Given the description of an element on the screen output the (x, y) to click on. 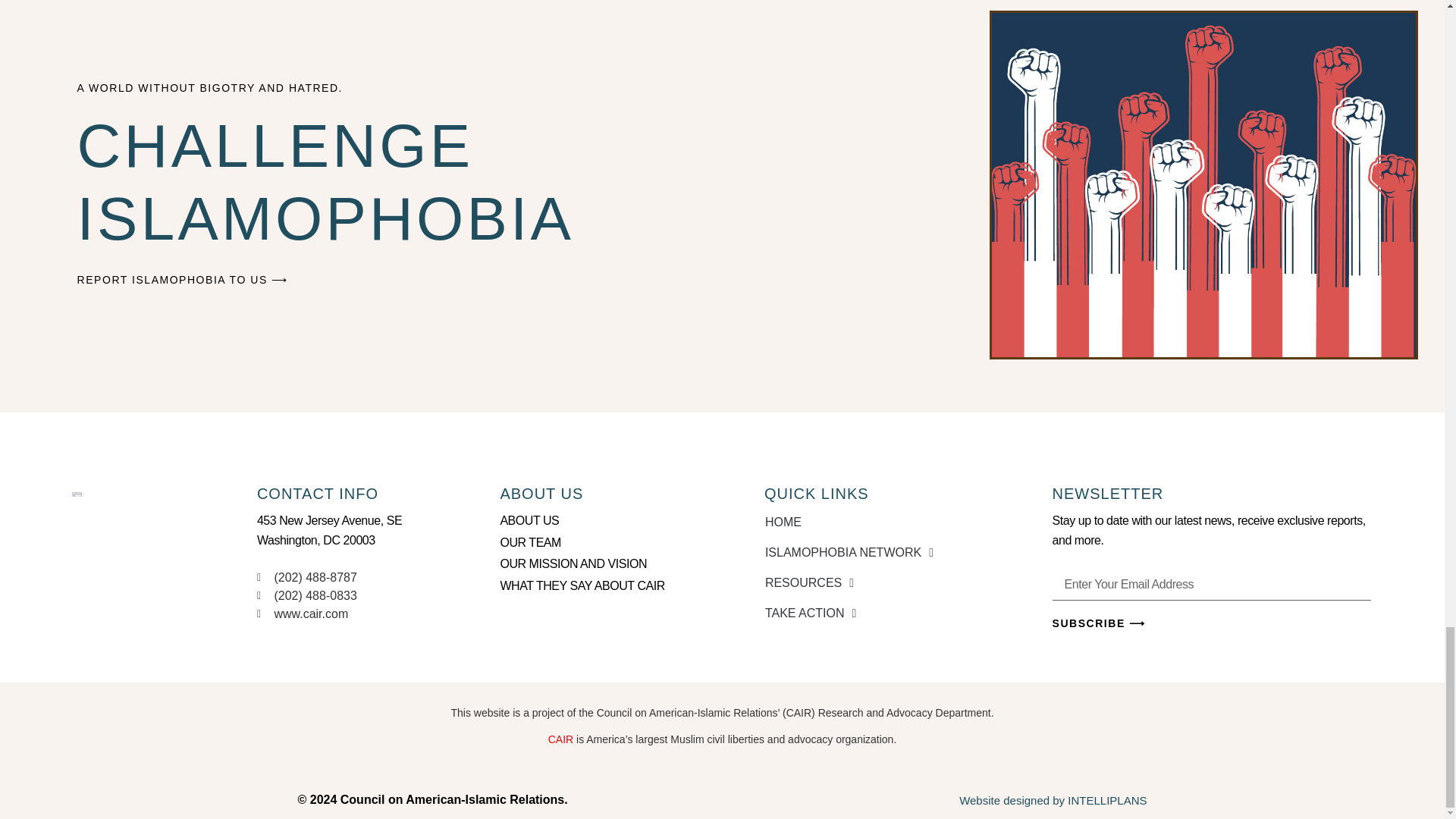
Nonprofit Website Designers (1053, 799)
CAIR - Council on American-Islamic Relations (560, 739)
